Given the description of an element on the screen output the (x, y) to click on. 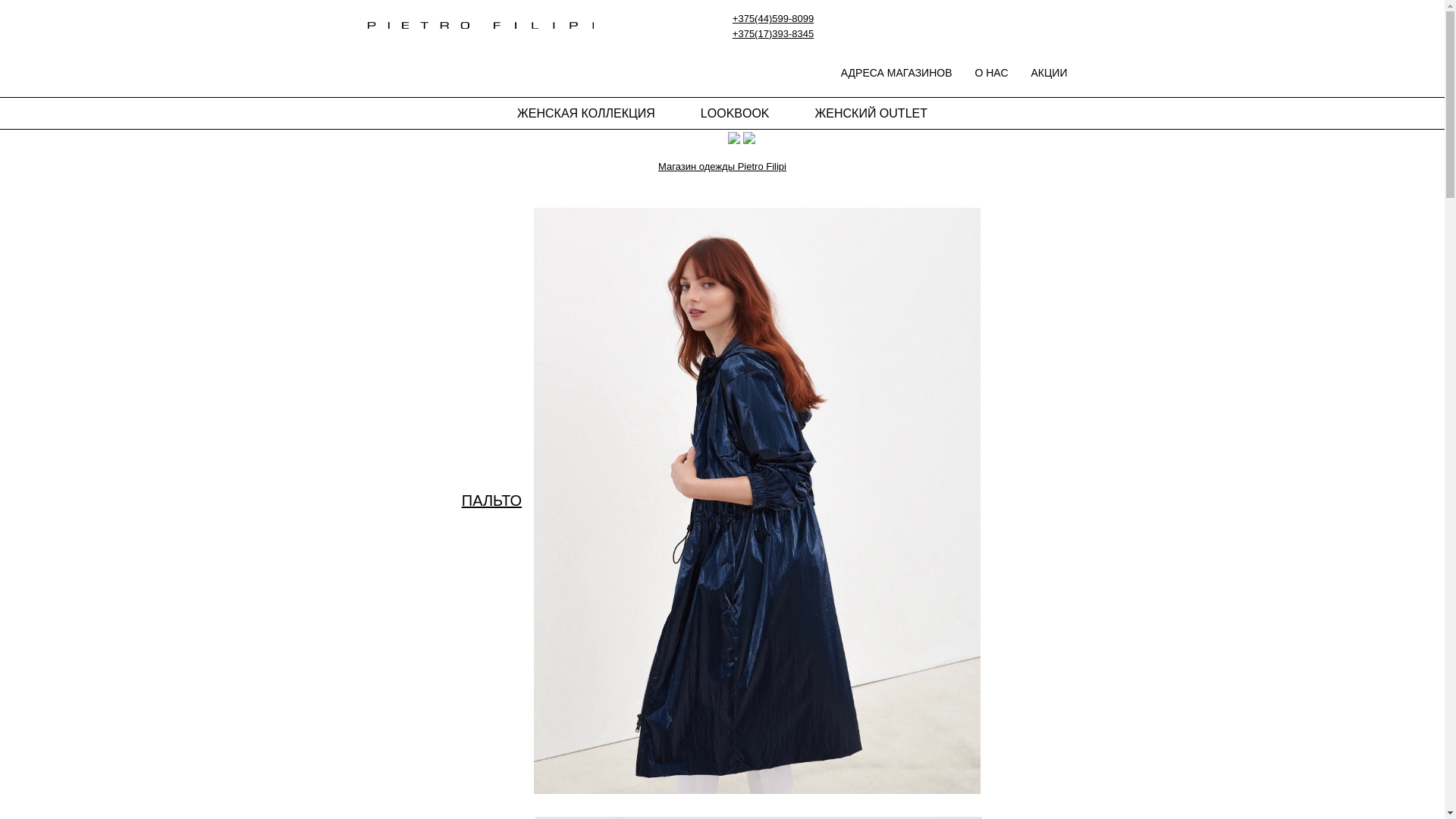
+375(44)599-8099 Element type: text (772, 18)
LOOKBOOK Element type: text (734, 112)
+375(17)393-8345 Element type: text (772, 32)
